Given the description of an element on the screen output the (x, y) to click on. 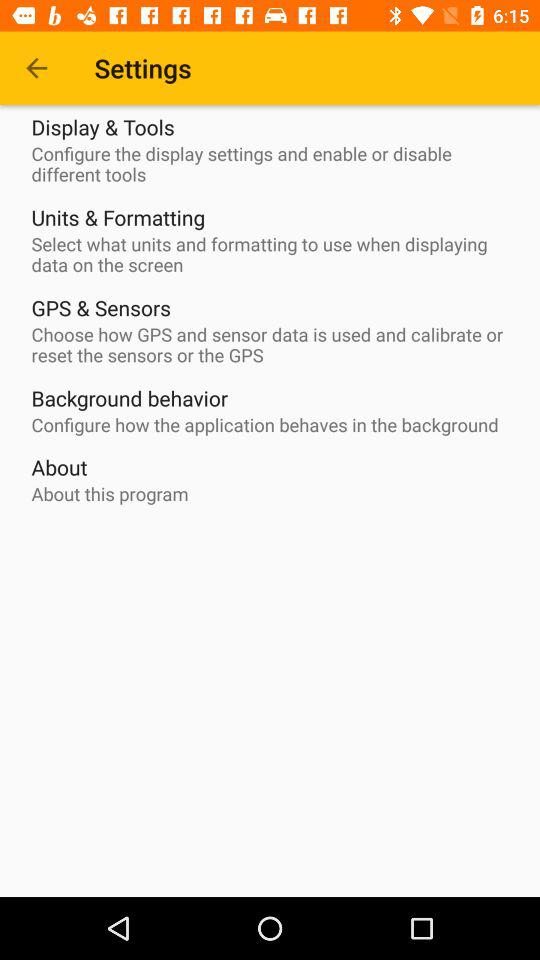
turn on select what units icon (275, 254)
